Given the description of an element on the screen output the (x, y) to click on. 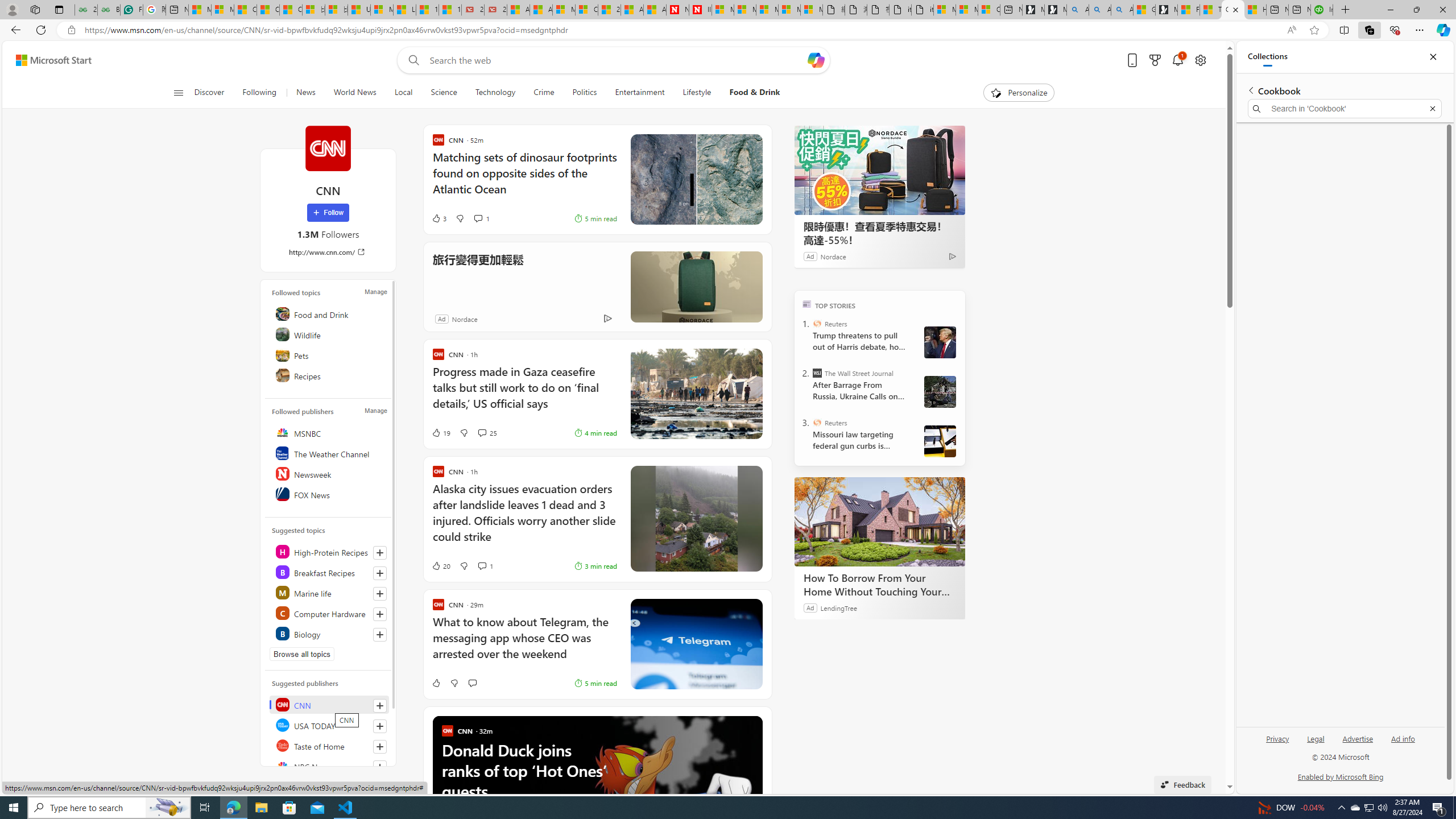
Privacy (1277, 742)
Skip to footer (46, 59)
MSNBC (328, 432)
Dislike (453, 682)
Alabama high school quarterback dies - Search (1077, 9)
Lifestyle (696, 92)
Follow (328, 212)
Local (403, 92)
Crime (543, 92)
How To Borrow From Your Home Without Touching Your Mortgage (879, 584)
